Given the description of an element on the screen output the (x, y) to click on. 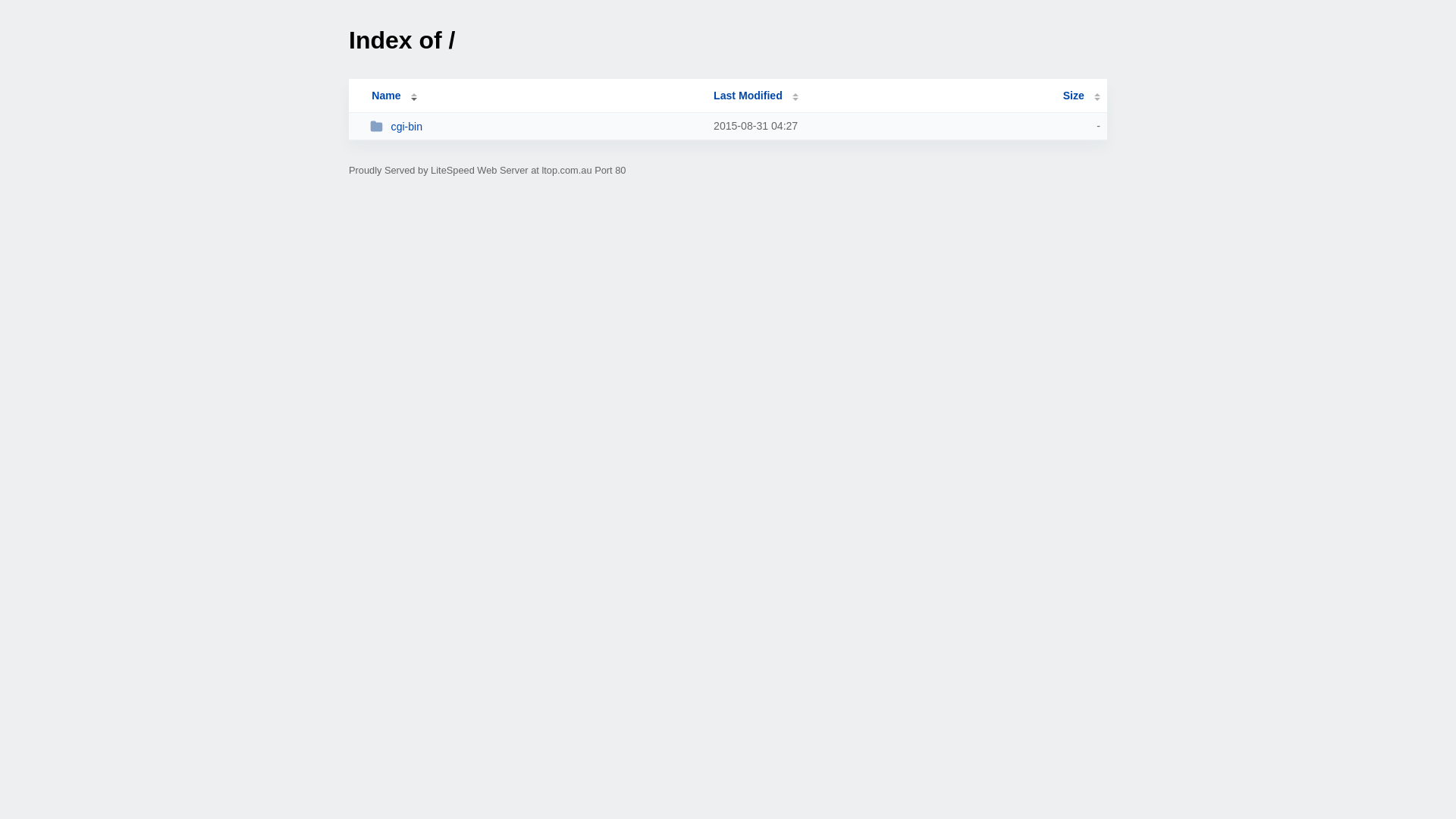
Last Modified Element type: text (755, 95)
cgi-bin Element type: text (534, 125)
Name Element type: text (385, 95)
Size Element type: text (1081, 95)
